Given the description of an element on the screen output the (x, y) to click on. 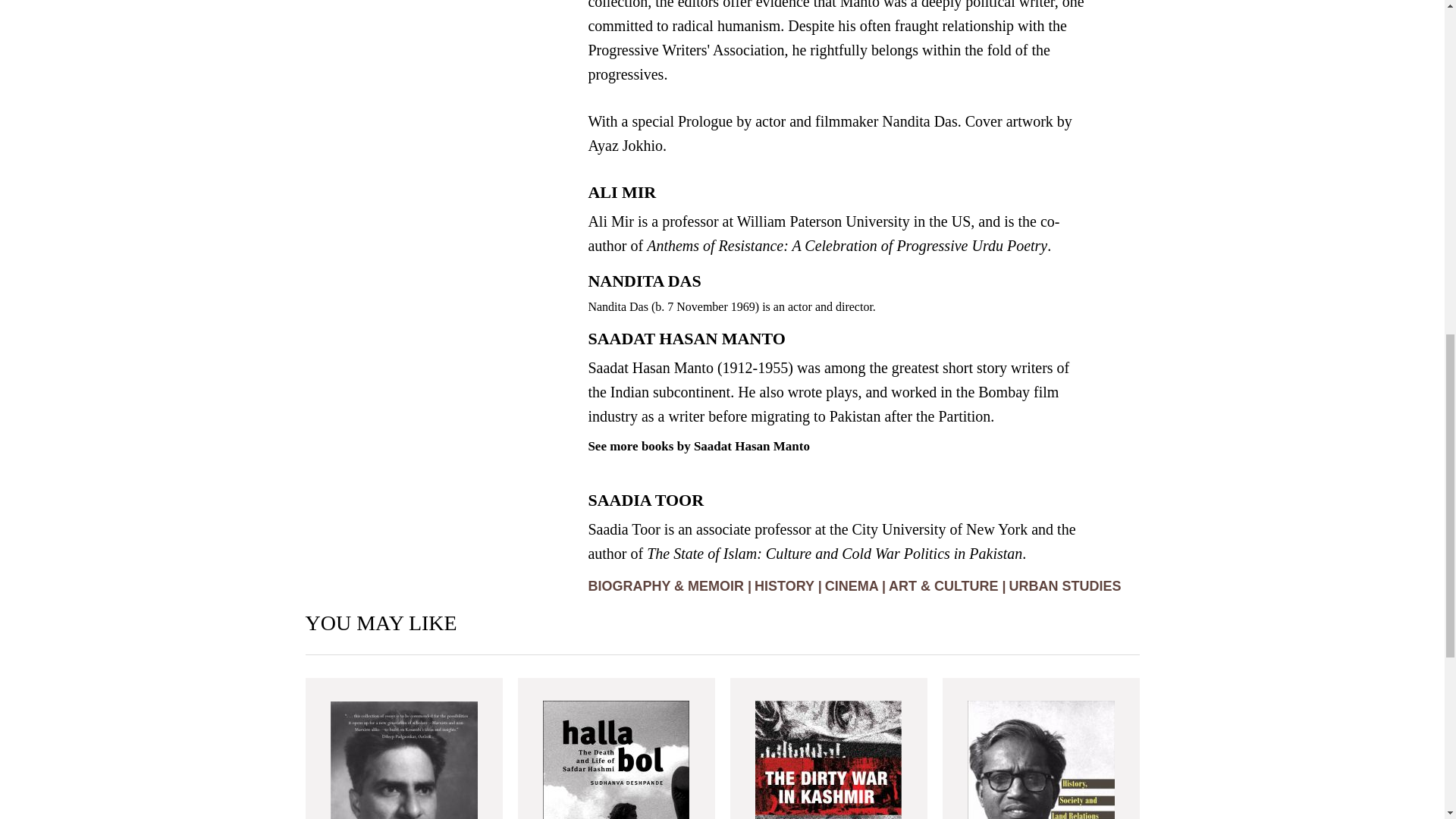
ALI MIR (622, 195)
SAADIA TOOR (645, 503)
SAADAT HASAN MANTO (686, 342)
See more books by Saadat Hasan Manto (698, 445)
NANDITA DAS (644, 284)
